Given the description of an element on the screen output the (x, y) to click on. 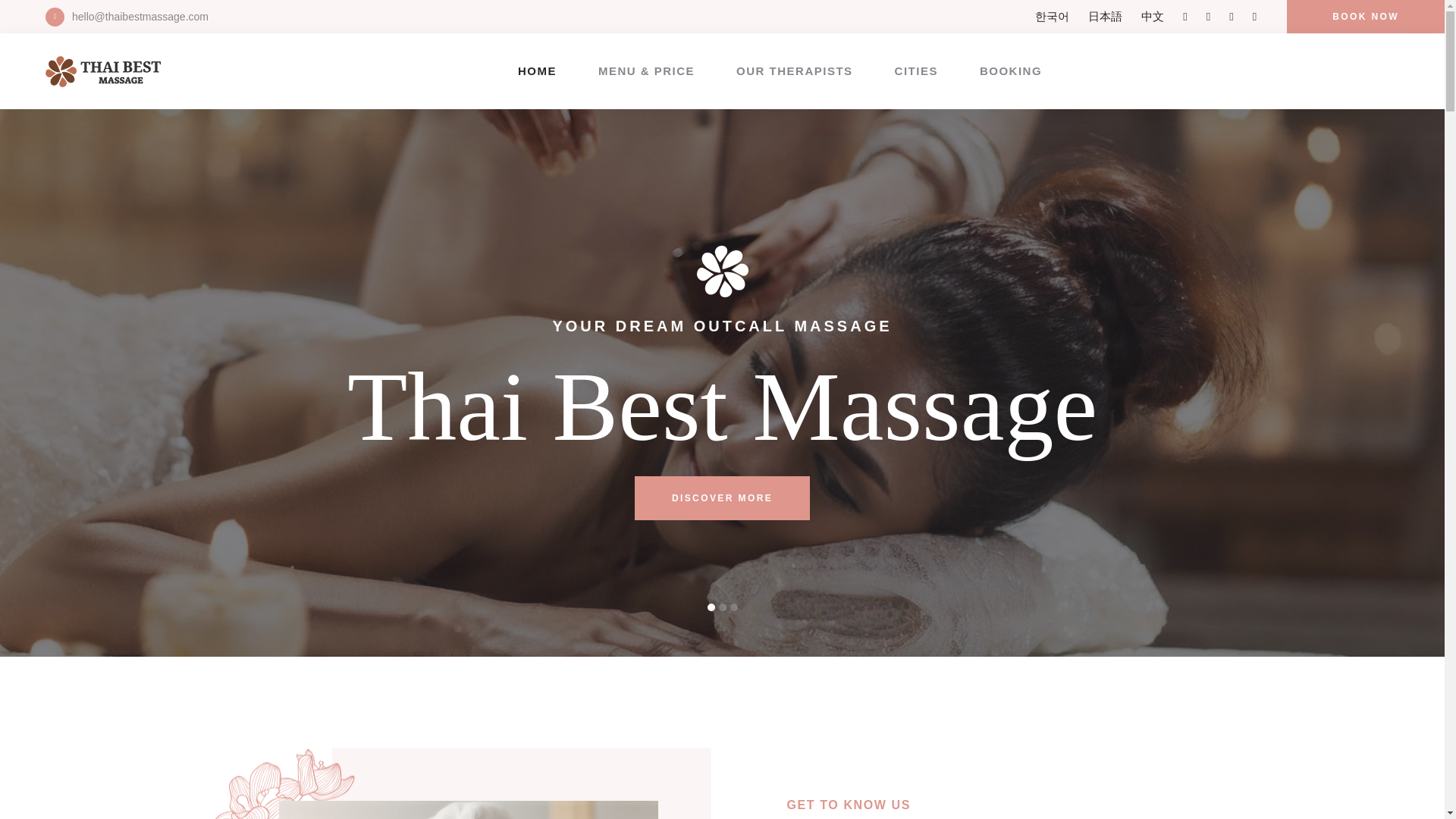
DISCOVER MORE (721, 497)
CITIES (916, 70)
HOME (537, 70)
BOOKING (1010, 70)
OUR THERAPISTS (794, 70)
